Given the description of an element on the screen output the (x, y) to click on. 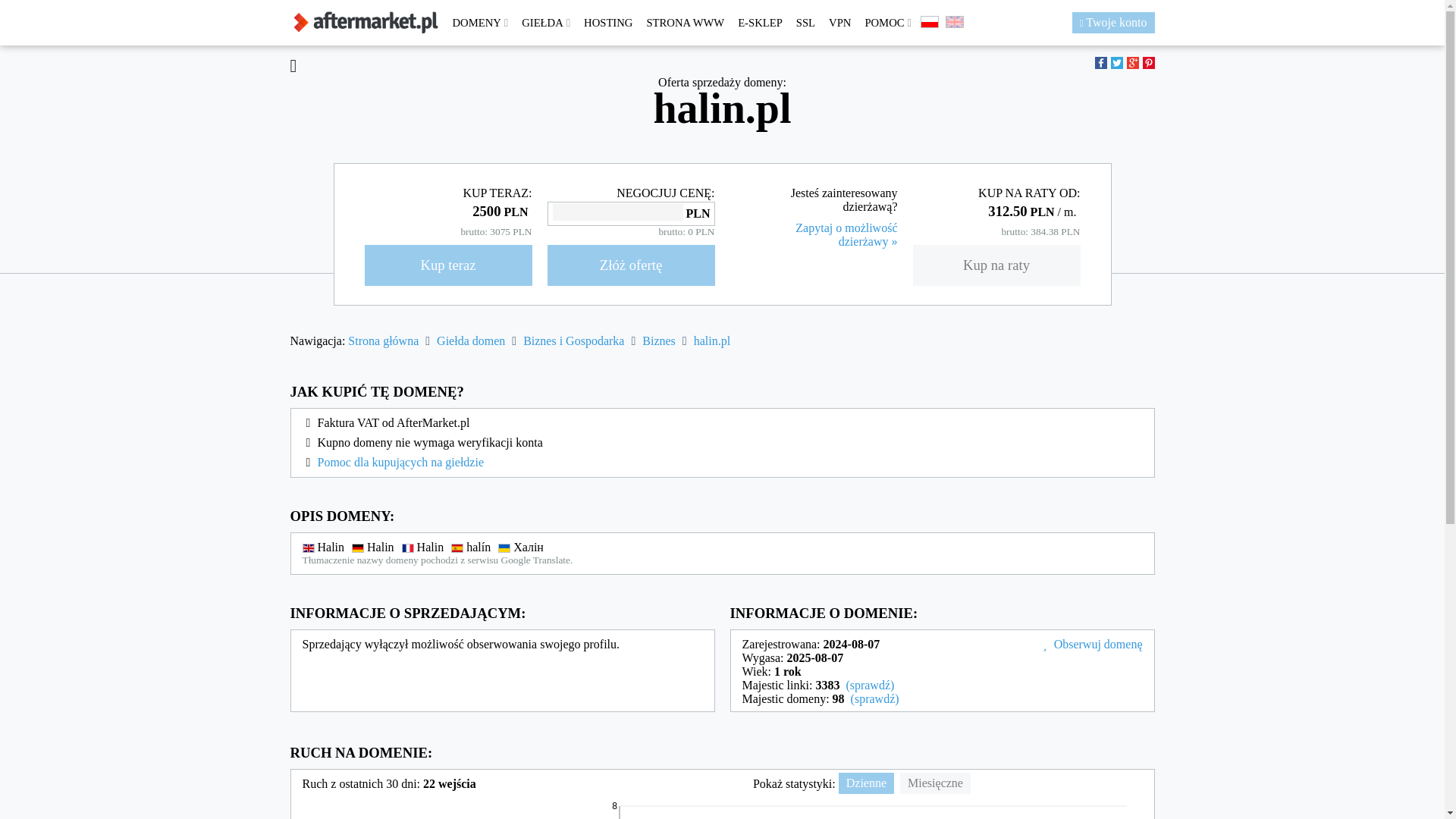
Twoje konto (1112, 22)
DOMENY (480, 22)
logo aftermarket (365, 22)
